Given the description of an element on the screen output the (x, y) to click on. 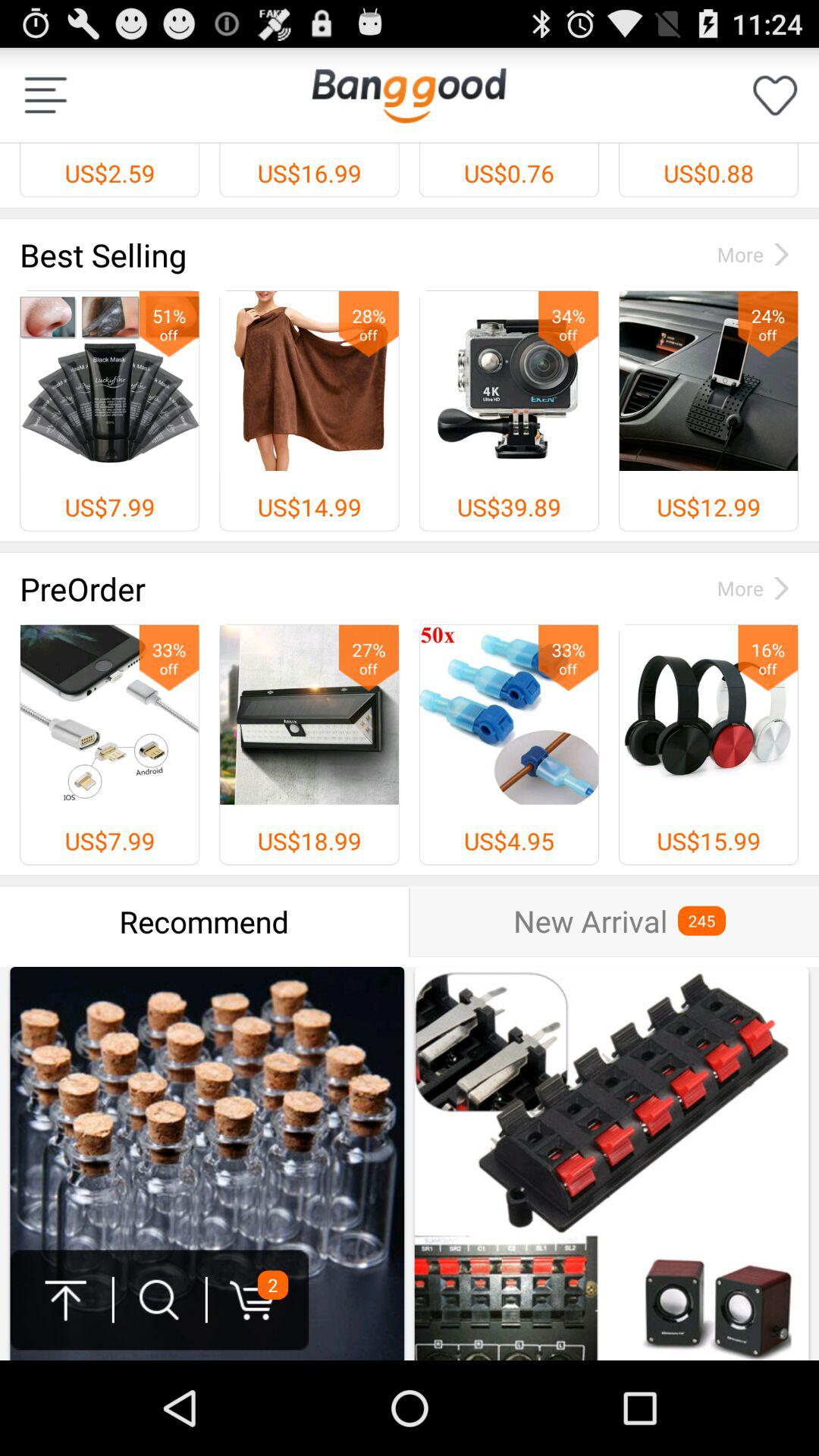
go to home page (409, 95)
